Given the description of an element on the screen output the (x, y) to click on. 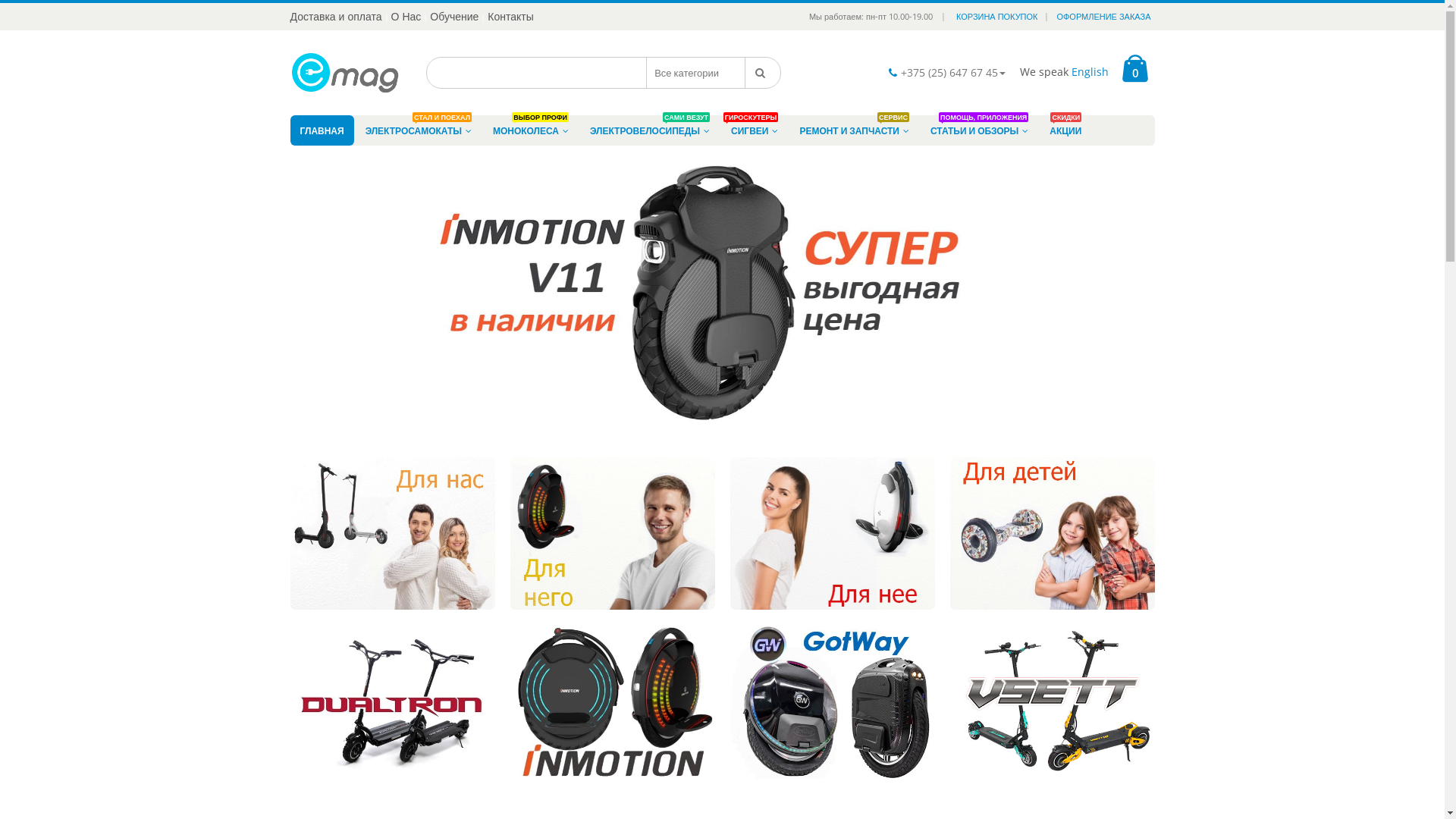
Search Element type: hover (762, 72)
